Given the description of an element on the screen output the (x, y) to click on. 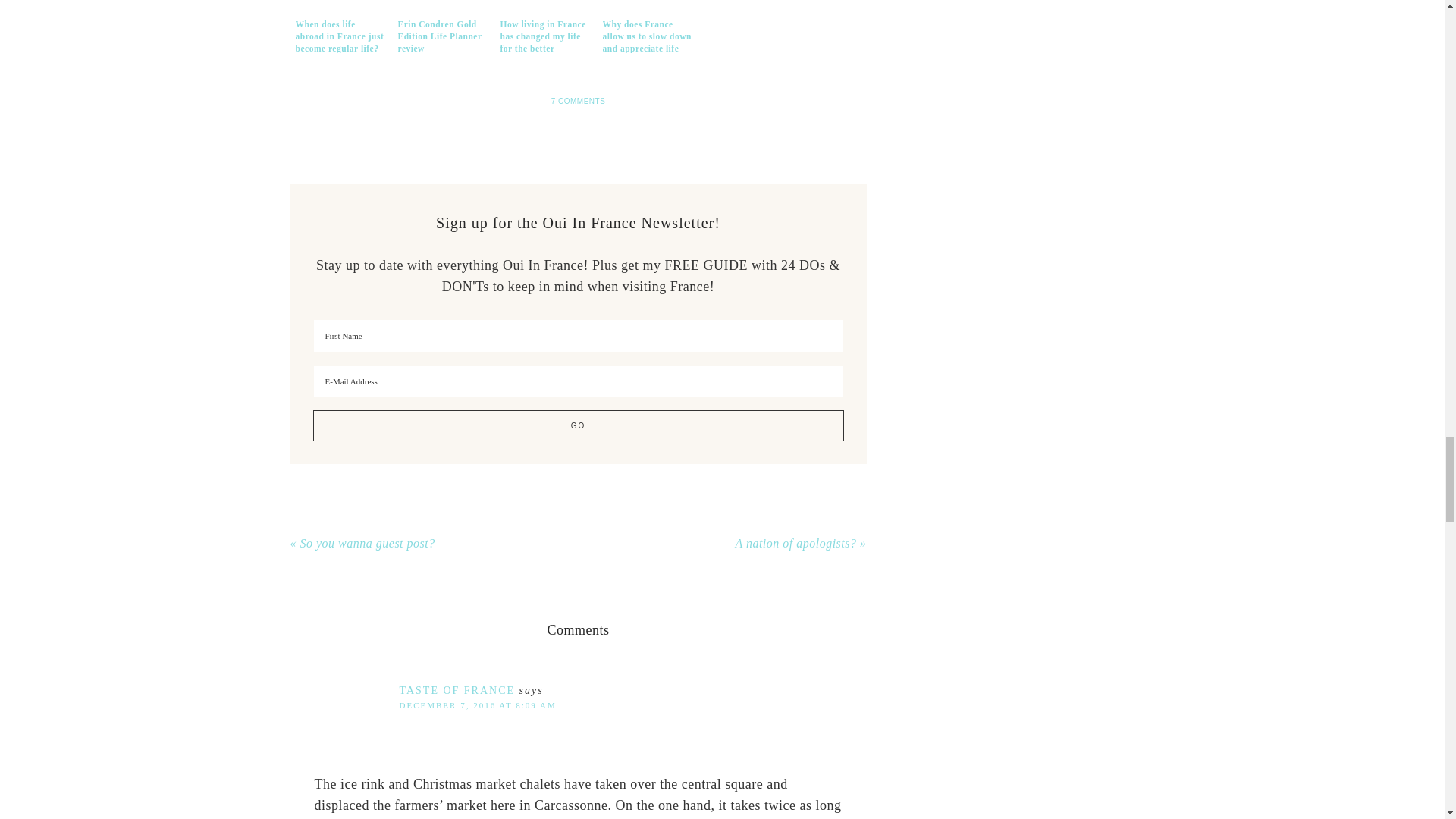
Go (578, 425)
When does life abroad in France just become regular life? (338, 24)
Erin Condren Gold Edition Life Planner review (442, 24)
How living in France has changed my life for the better (543, 24)
